Given the description of an element on the screen output the (x, y) to click on. 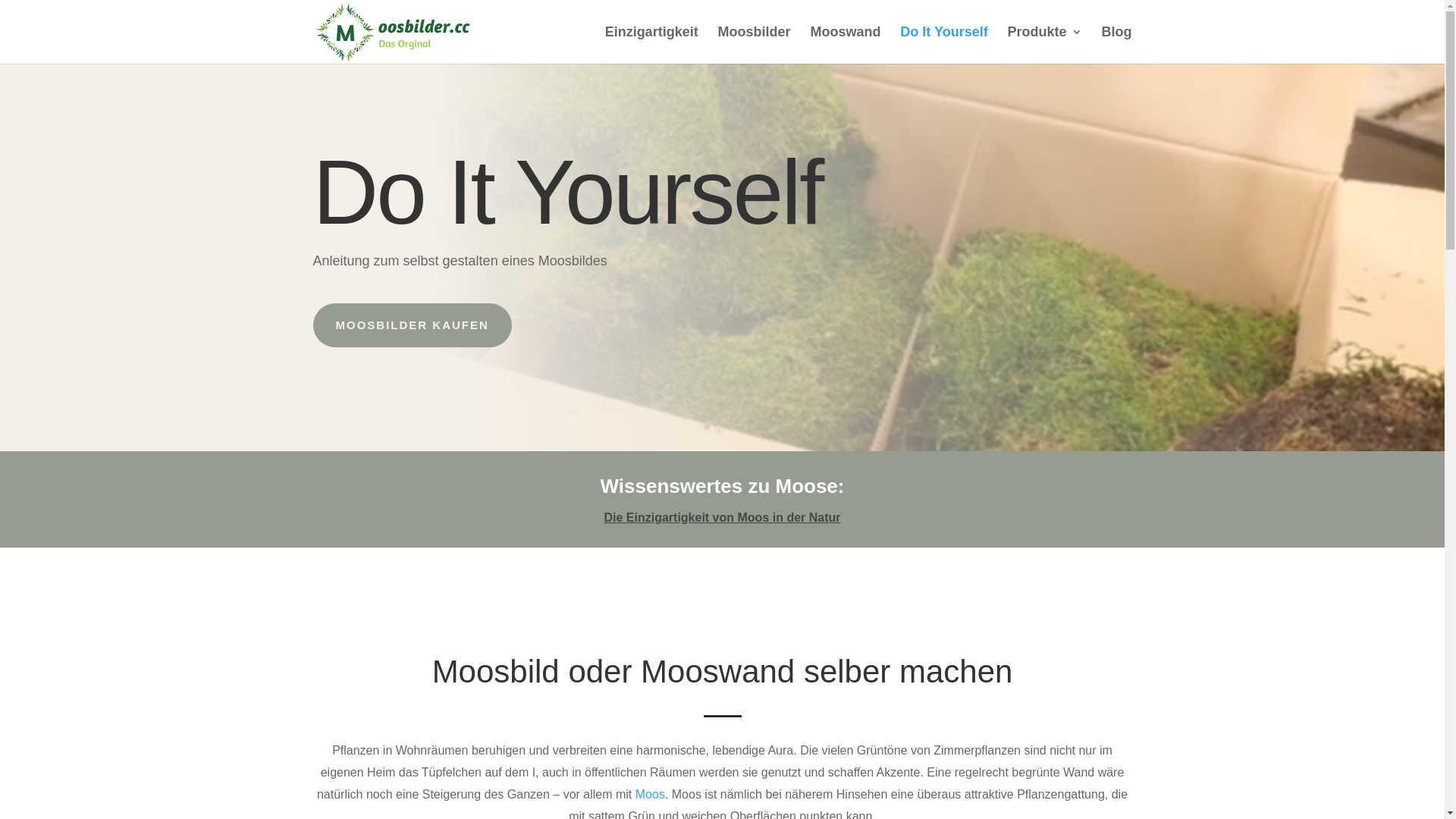
Blog Element type: text (1116, 44)
Einzigartigkeit Element type: text (651, 44)
Do It Yourself Element type: text (943, 44)
Moosbilder Element type: text (754, 44)
Produkte Element type: text (1044, 44)
MOOSBILDER KAUFEN Element type: text (411, 325)
Mooswand Element type: text (844, 44)
Die Einzigartigkeit von Moos in der Natur Element type: text (721, 517)
Moos Element type: text (650, 793)
